Given the description of an element on the screen output the (x, y) to click on. 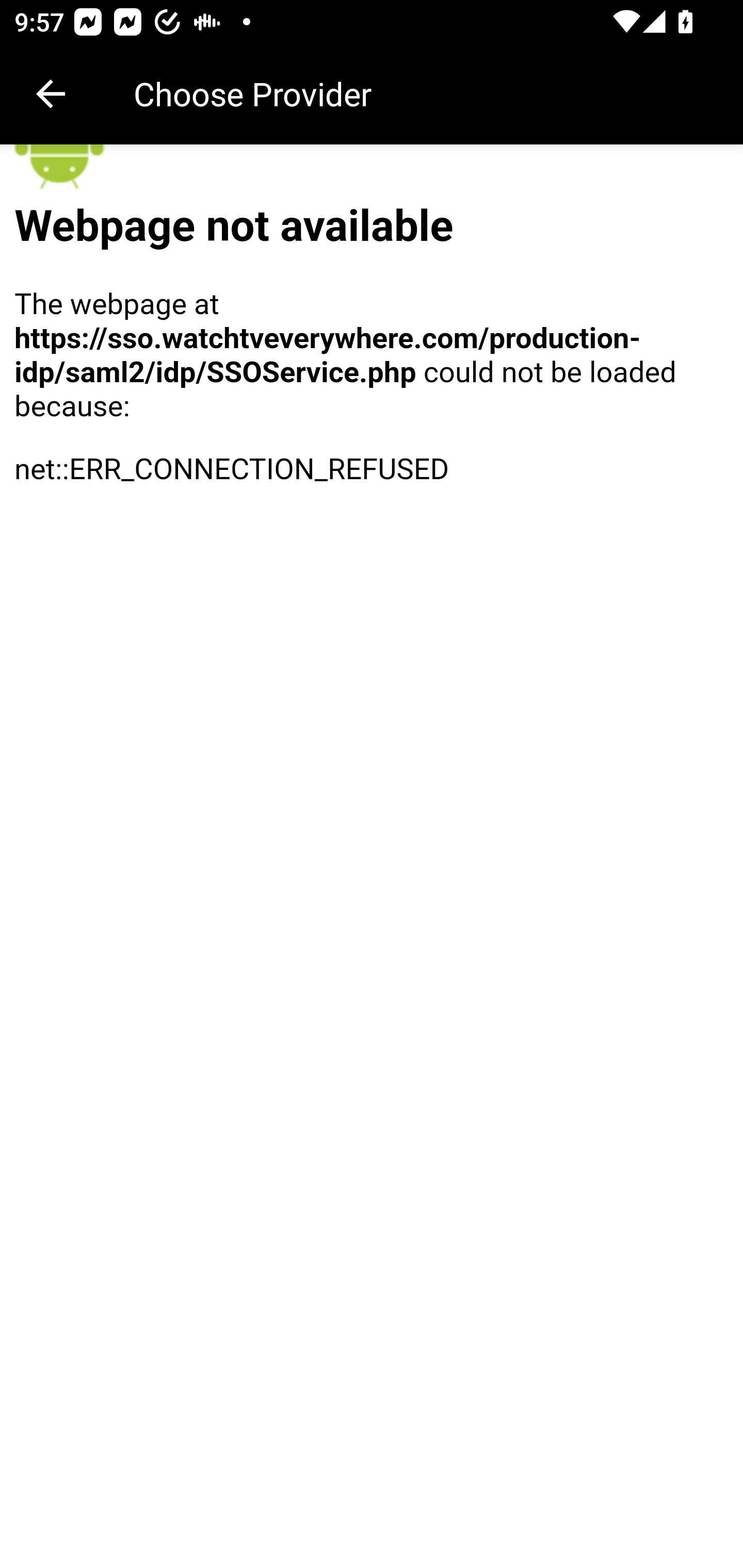
Navigate up (50, 93)
